Given the description of an element on the screen output the (x, y) to click on. 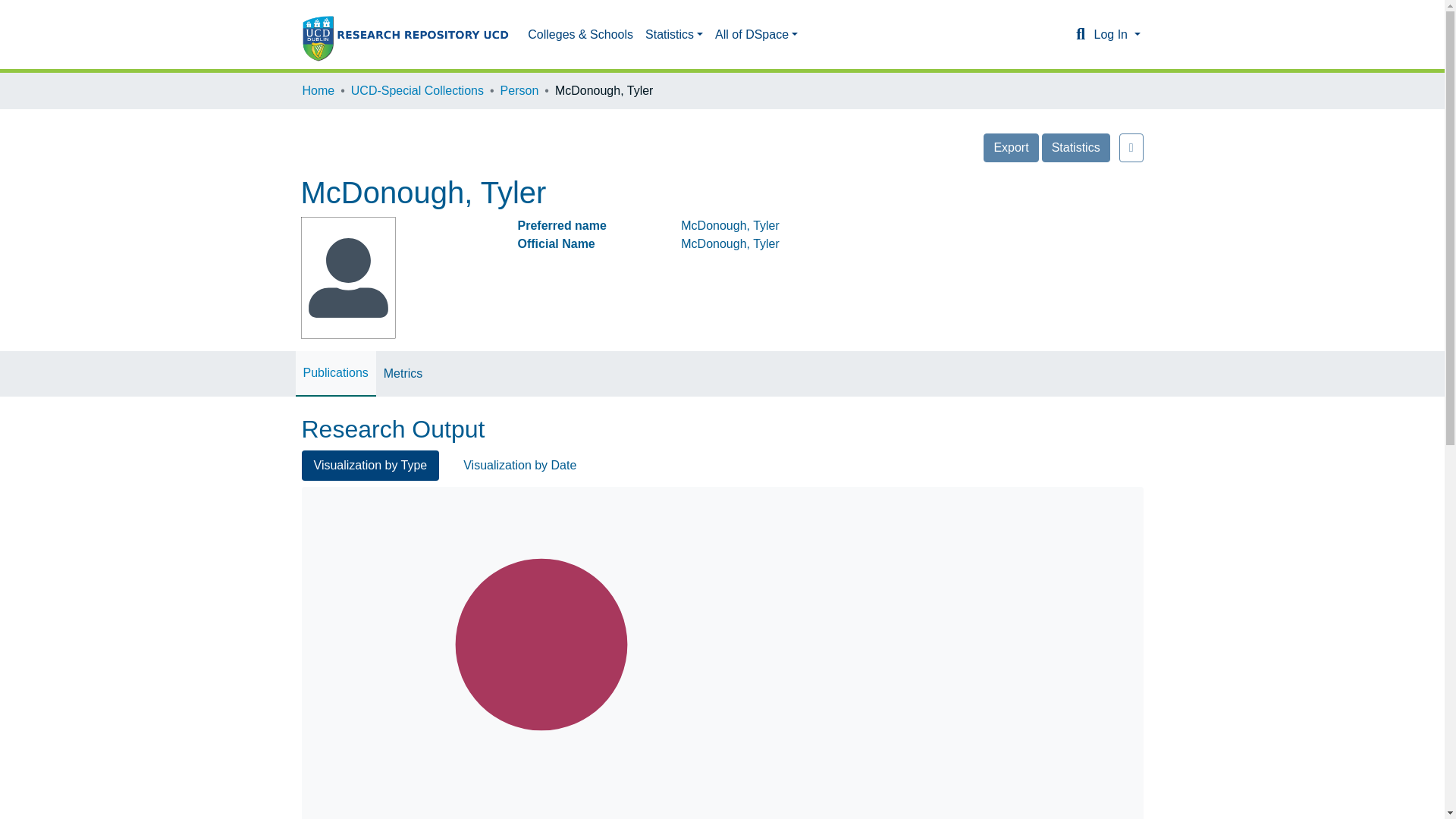
Metrics (402, 288)
Person (519, 90)
Export (1011, 147)
All of DSpace (717, 34)
Statistics (1075, 147)
UCD-Special Collections (416, 90)
Statistics (634, 34)
Visualization by Date (519, 378)
Publications (335, 287)
Visualization by Type (370, 378)
